Given the description of an element on the screen output the (x, y) to click on. 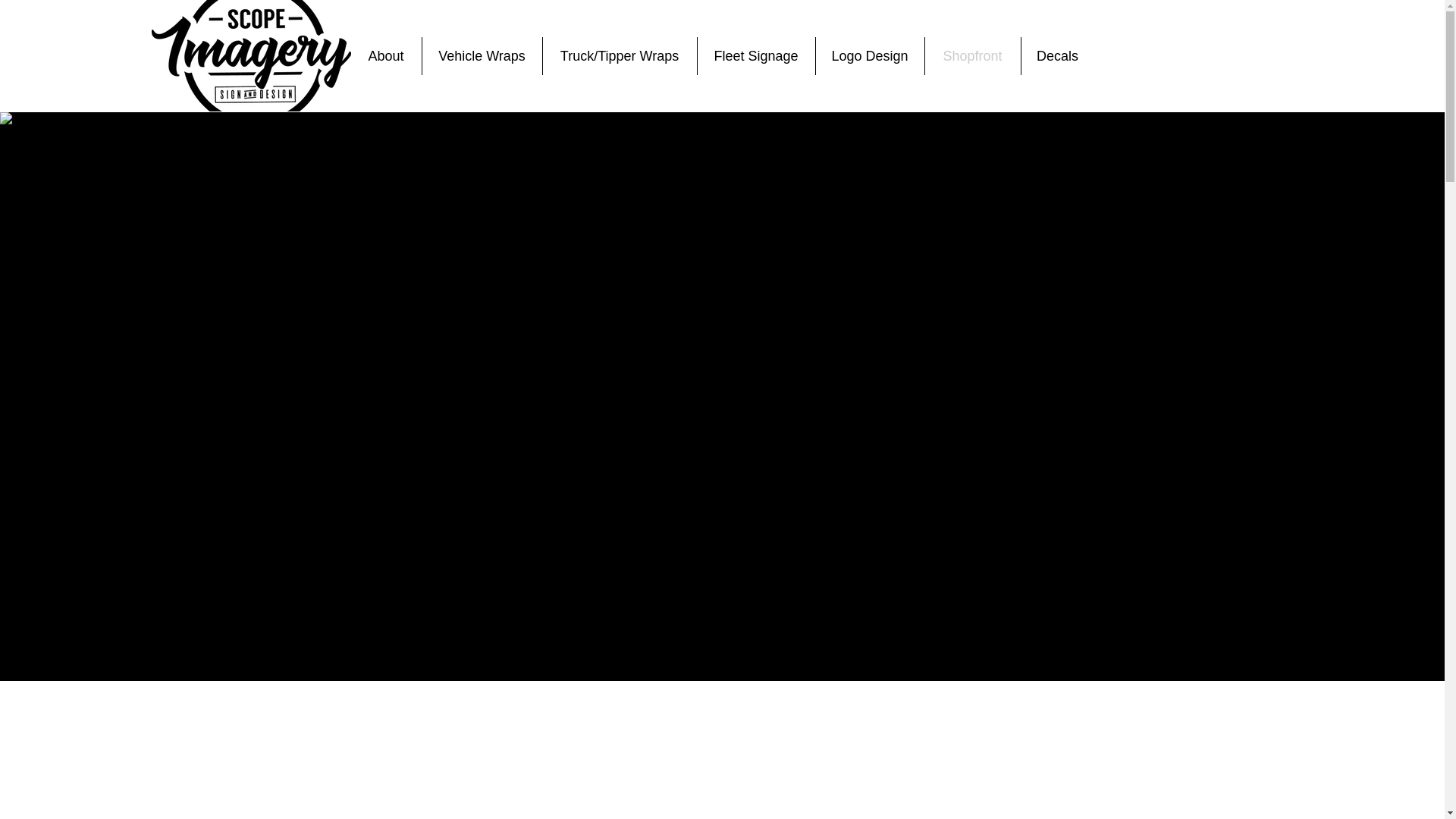
Decals (1056, 55)
Vehicle Wraps (481, 55)
Shopfront (972, 55)
Logo Design (869, 55)
About (385, 55)
Fleet Signage (756, 55)
